Given the description of an element on the screen output the (x, y) to click on. 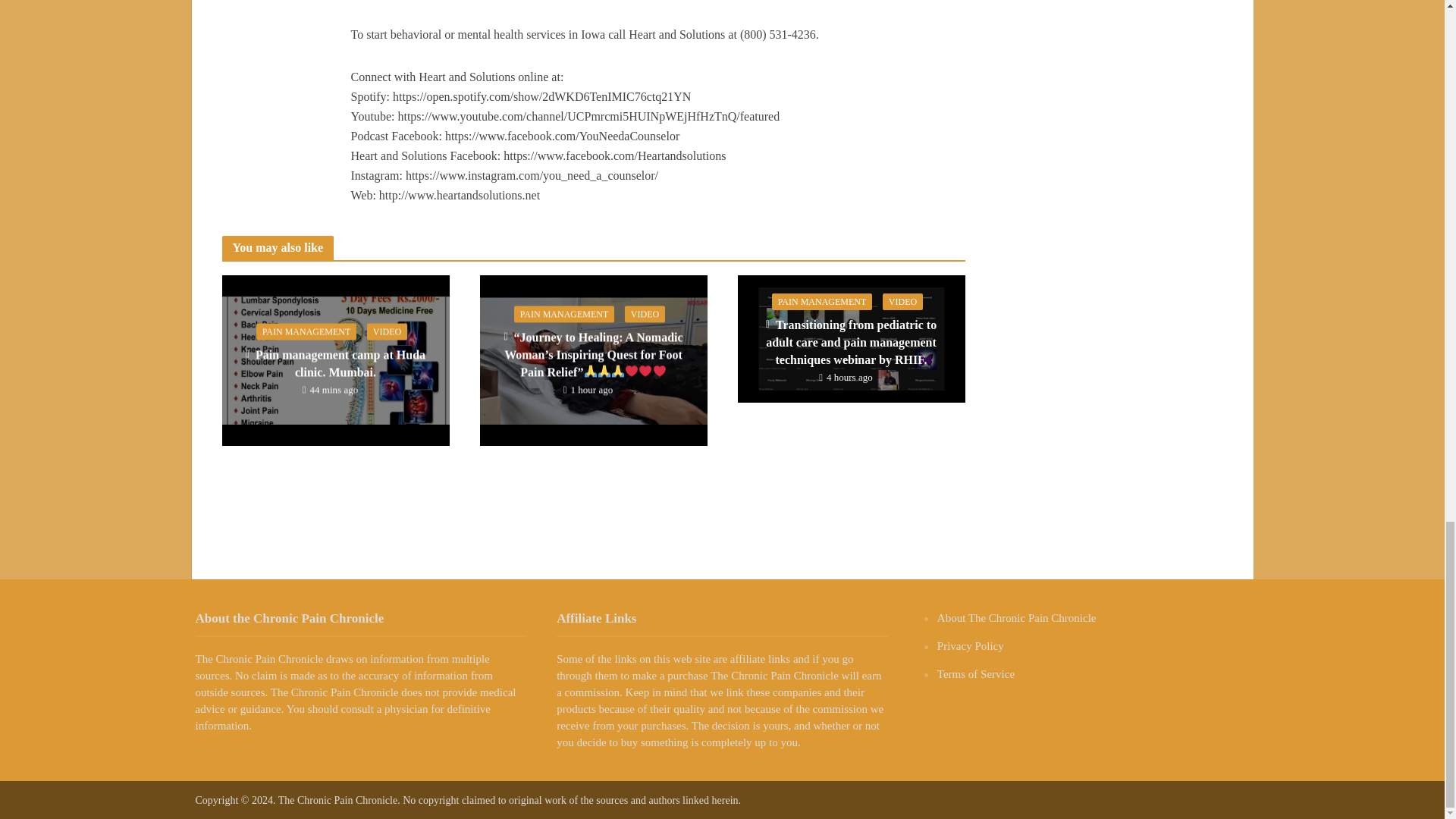
Pain management camp at Huda clinic.  Mumbai. (334, 358)
